Given the description of an element on the screen output the (x, y) to click on. 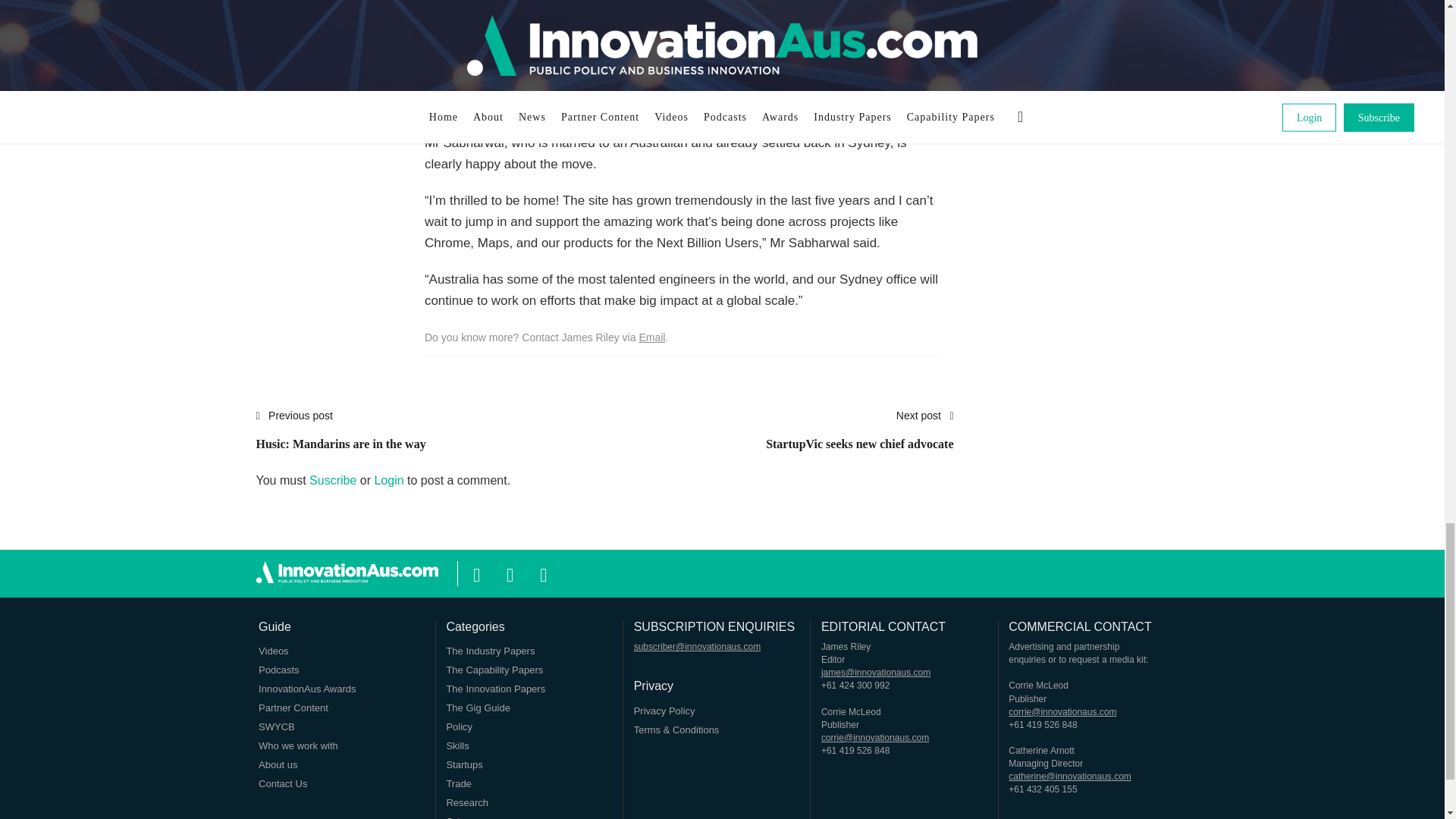
ion-social-linkedin (543, 572)
next post (341, 437)
ion-social-facebook (859, 437)
Suscribe (859, 437)
Email (476, 572)
Login (332, 480)
prev post (652, 337)
ion-social-twitter (388, 480)
